Given the description of an element on the screen output the (x, y) to click on. 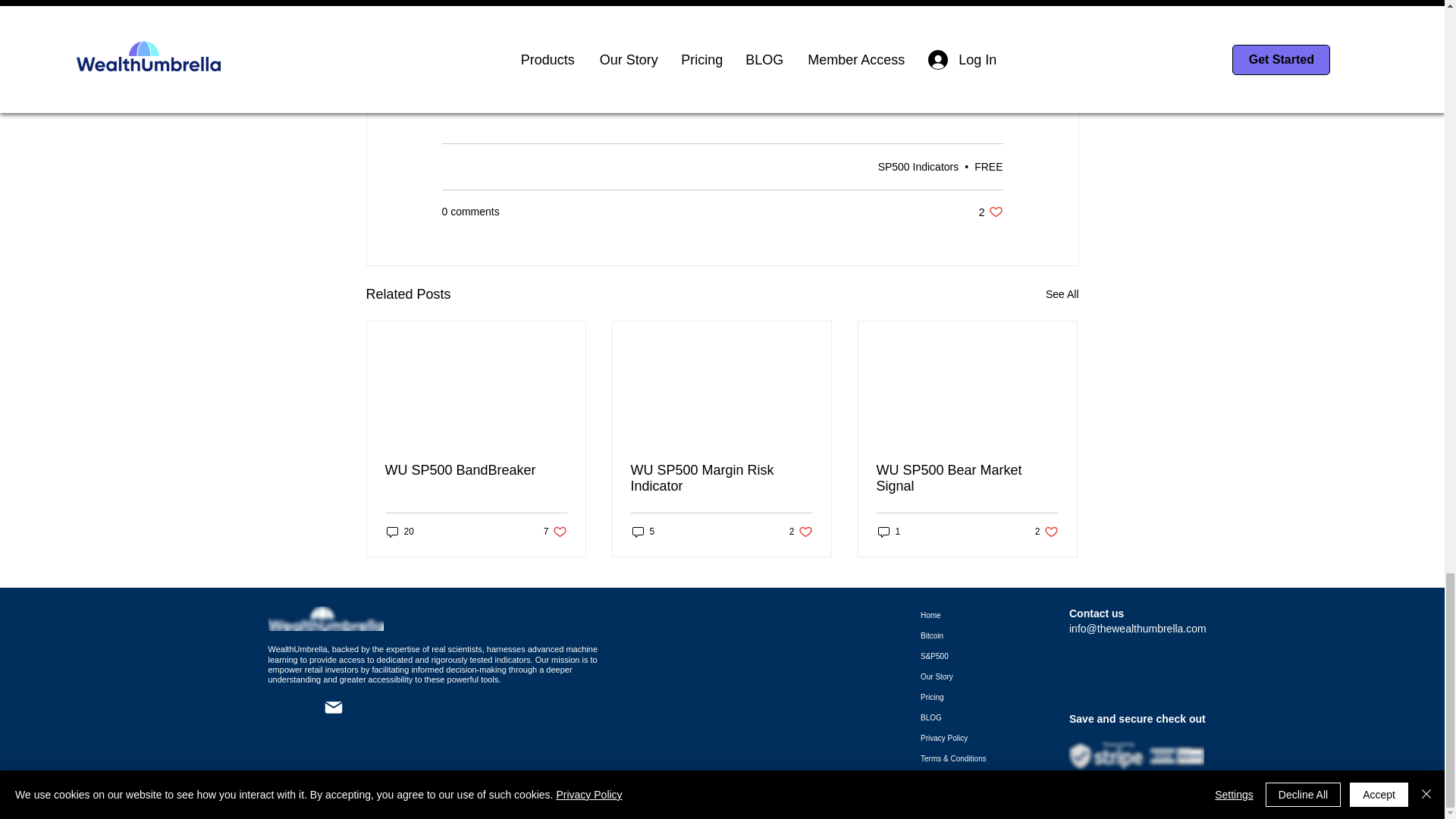
5 (643, 531)
WU SP500 BandBreaker (476, 470)
FREE (988, 166)
1 (1046, 531)
20 (889, 531)
WU SP500 Margin Risk Indicator (399, 531)
WU SP500 Bear Market Signal (555, 531)
See All (721, 478)
